Given the description of an element on the screen output the (x, y) to click on. 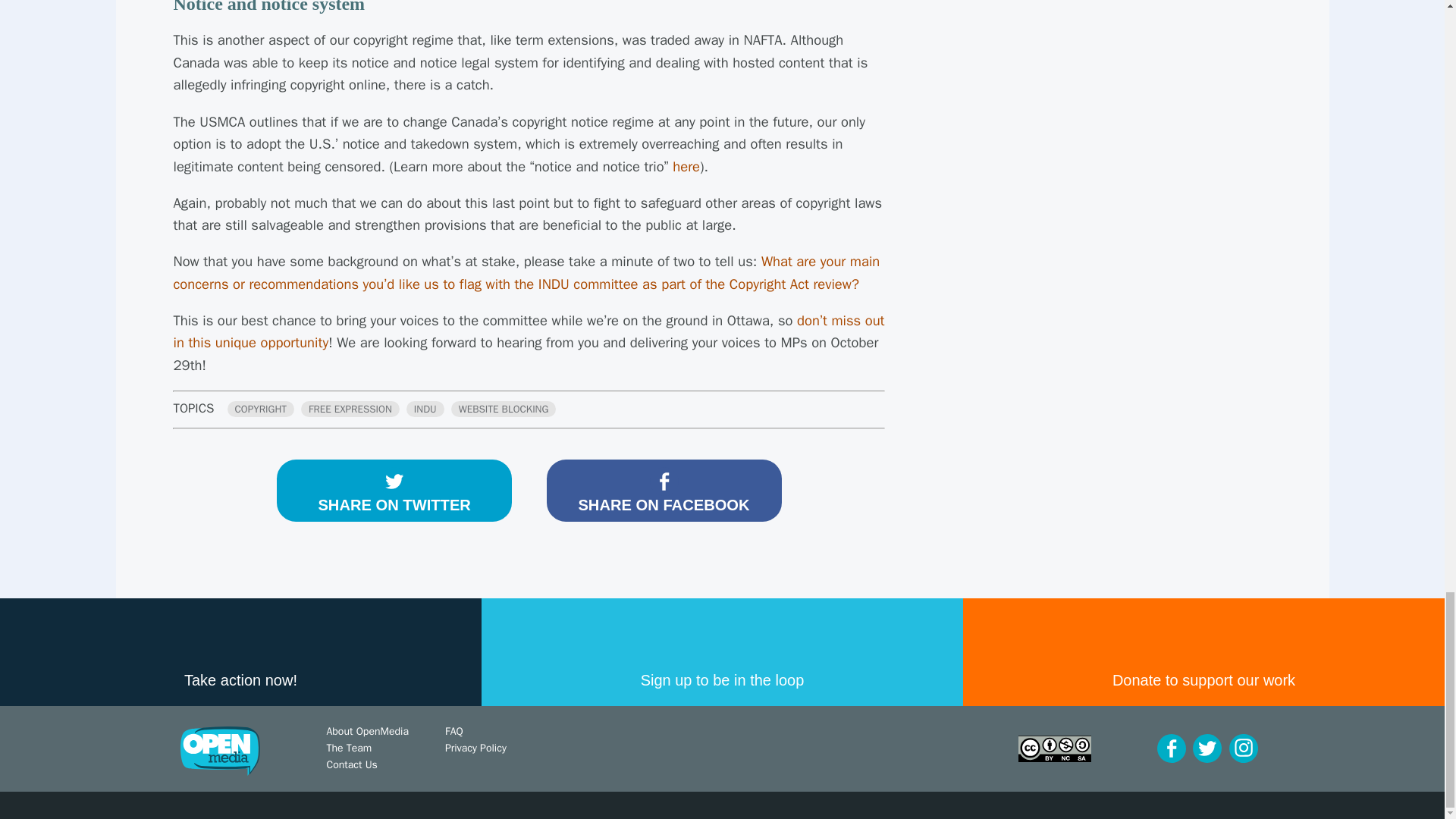
Share this on Facebook (663, 490)
OpenMedia's Twitter page (1206, 747)
OpenMedia's Facebook page (1171, 747)
Privacy Policy (475, 748)
Contact Us (351, 764)
Creative Commons License (1053, 748)
Share this on Twitter (394, 490)
About OpenMedia (366, 730)
FAQ (454, 730)
OpenMedia's Instagram page (1242, 747)
The Team (348, 748)
Open Media - Home (220, 751)
